Given the description of an element on the screen output the (x, y) to click on. 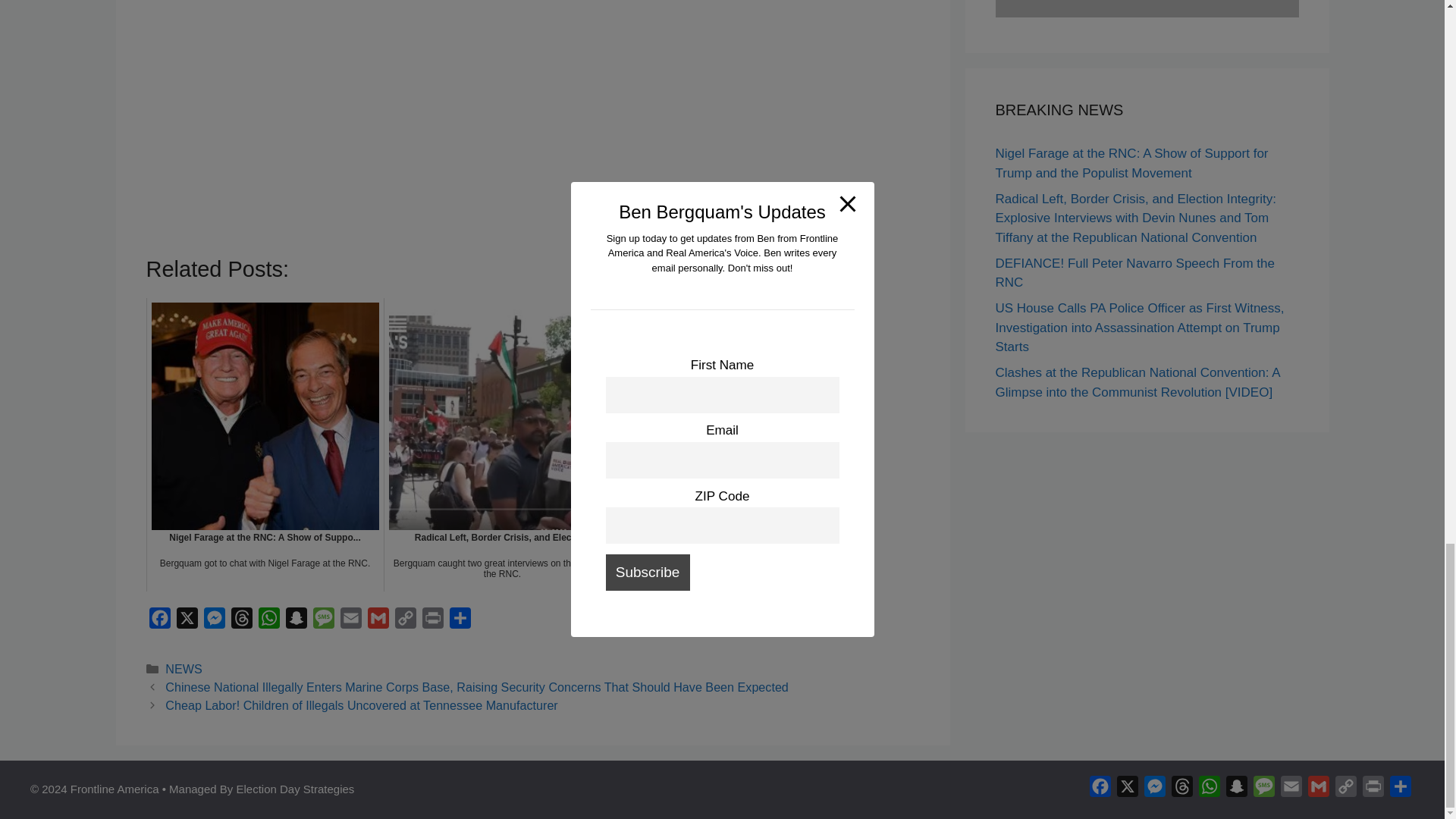
Facebook (159, 621)
Threads (240, 621)
Copy Link (405, 621)
Messenger (213, 621)
Email (350, 621)
Message (322, 621)
Messenger (213, 621)
Facebook (159, 621)
Threads (240, 621)
NEWS (183, 668)
X (186, 621)
X (186, 621)
WhatsApp (268, 621)
